Given the description of an element on the screen output the (x, y) to click on. 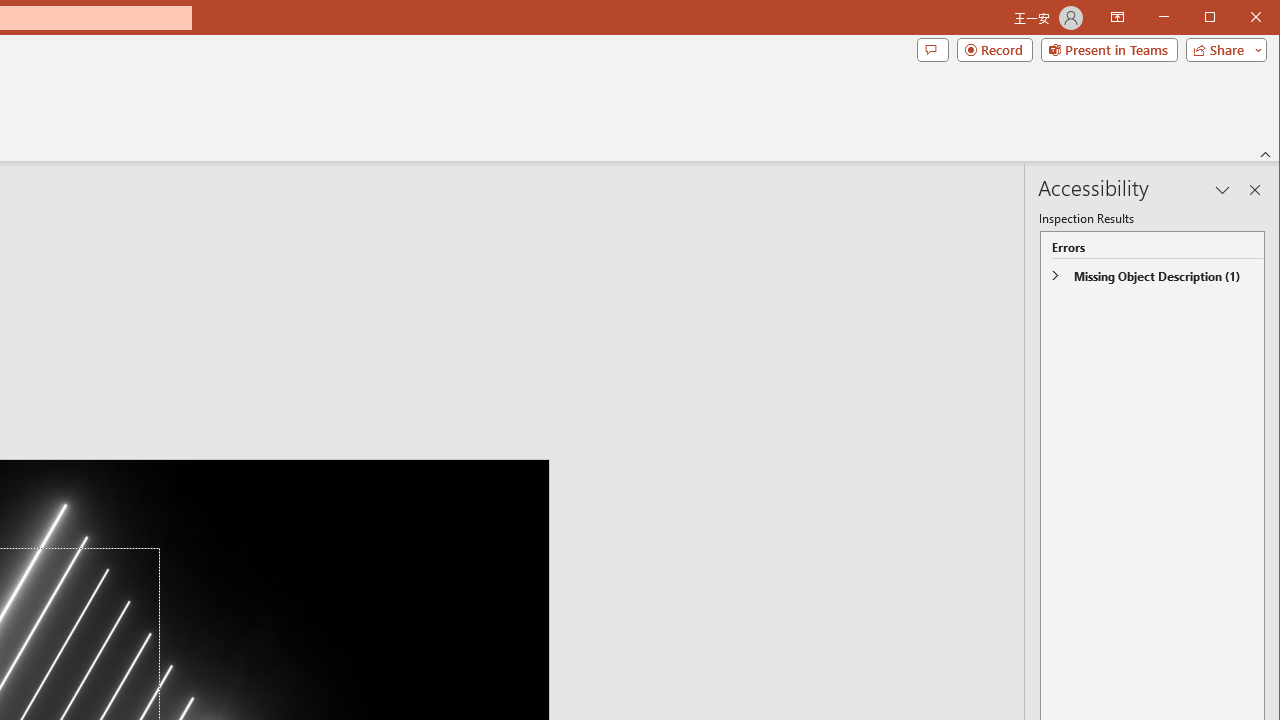
Maximize (1238, 18)
